Given the description of an element on the screen output the (x, y) to click on. 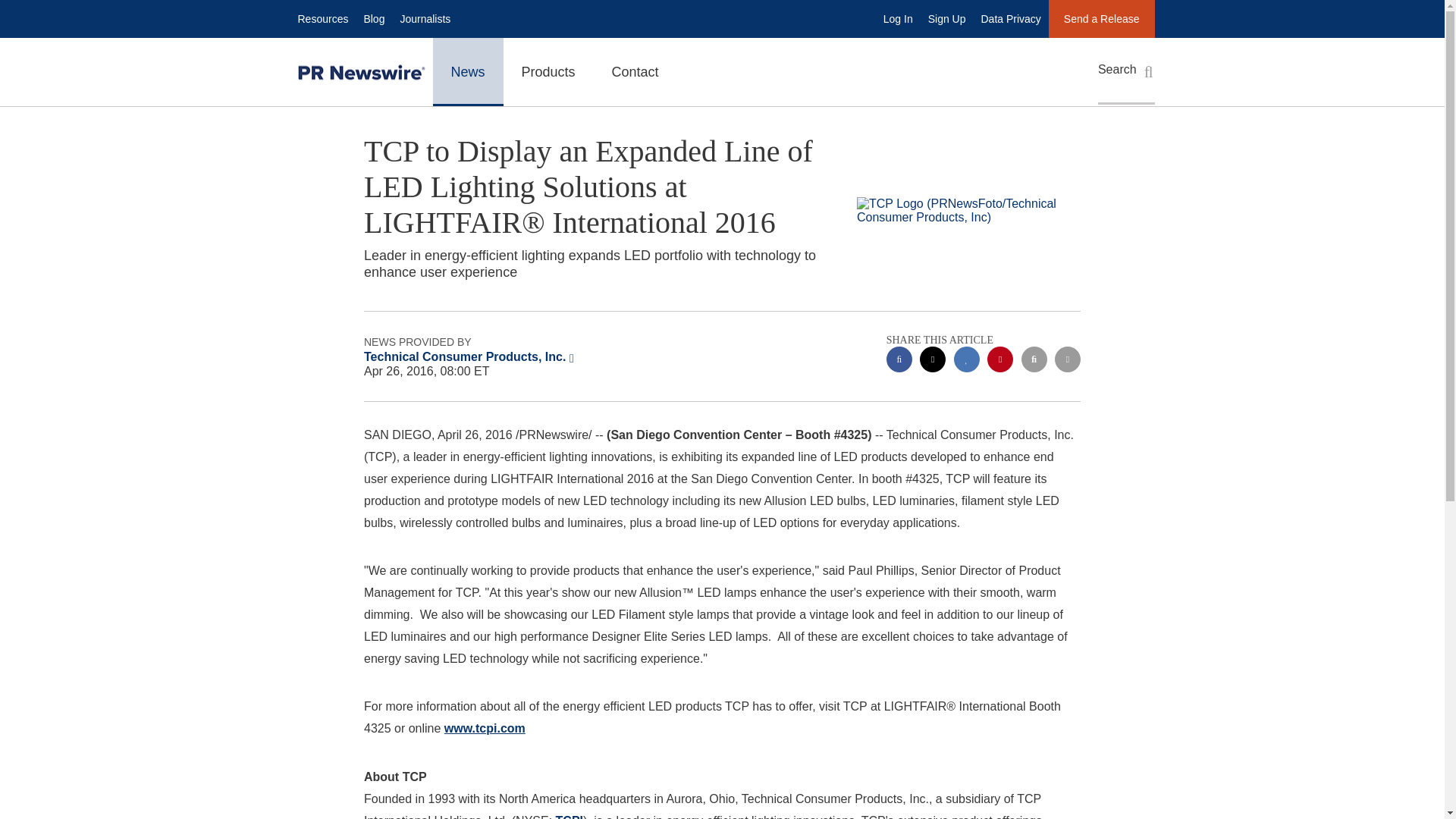
Send a Release (1101, 18)
Products (548, 71)
Data Privacy (1011, 18)
Blog (373, 18)
Log In (898, 18)
Sign Up (947, 18)
Resources (322, 18)
Journalists (424, 18)
Search (1125, 70)
Contact (635, 71)
News (467, 71)
